Given the description of an element on the screen output the (x, y) to click on. 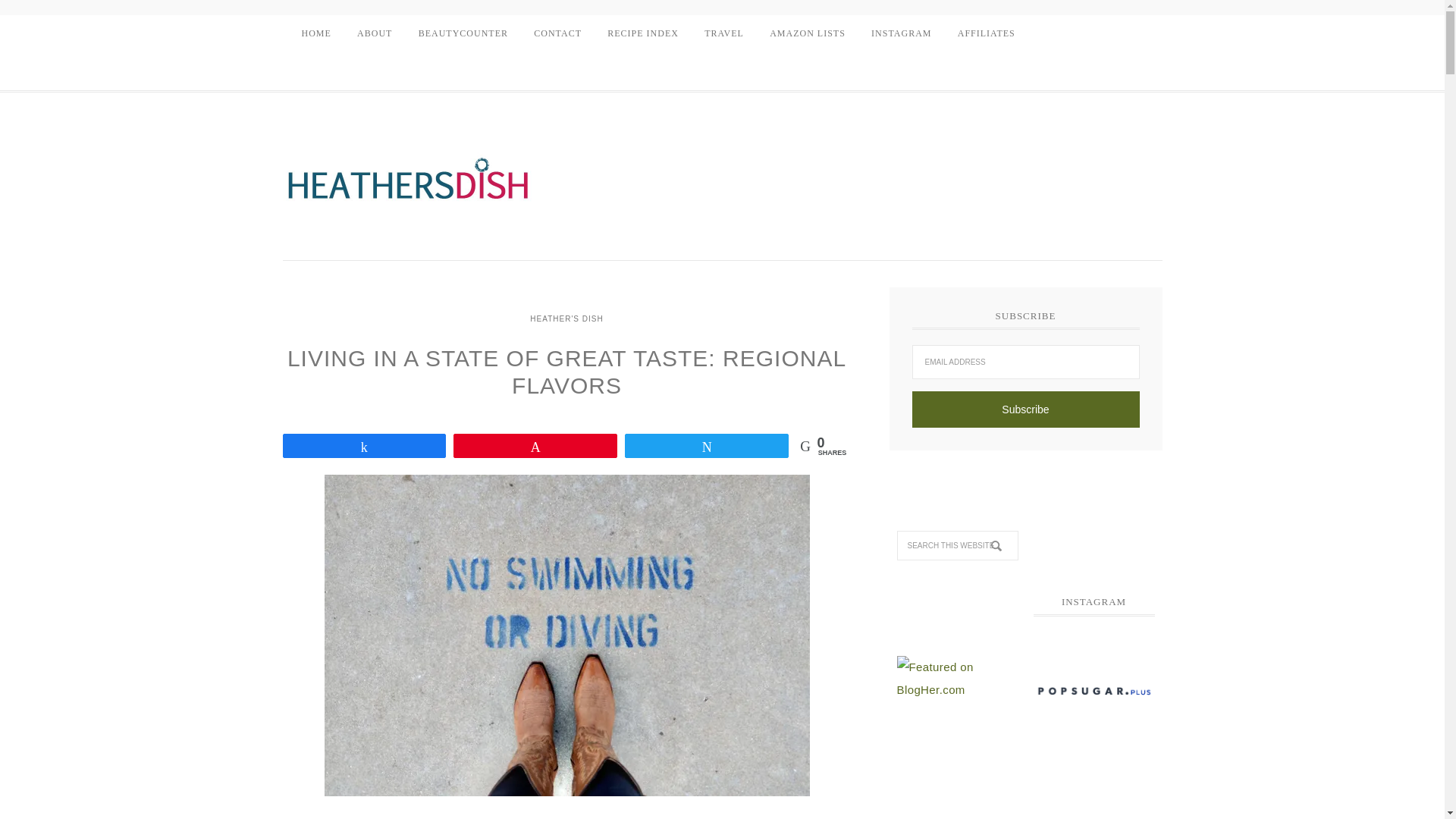
AMAZON LISTS (807, 33)
BEAUTYCOUNTER (463, 33)
Featured on BlogHer.com (956, 678)
ABOUT (374, 33)
HEATHER'S DISH (566, 318)
Subscribe (1024, 409)
AFFILIATES (986, 33)
HEATHER'S DISH (407, 185)
TRAVEL (724, 33)
CONTACT (557, 33)
RECIPE INDEX (642, 33)
HOME (315, 33)
INSTAGRAM (901, 33)
